Given the description of an element on the screen output the (x, y) to click on. 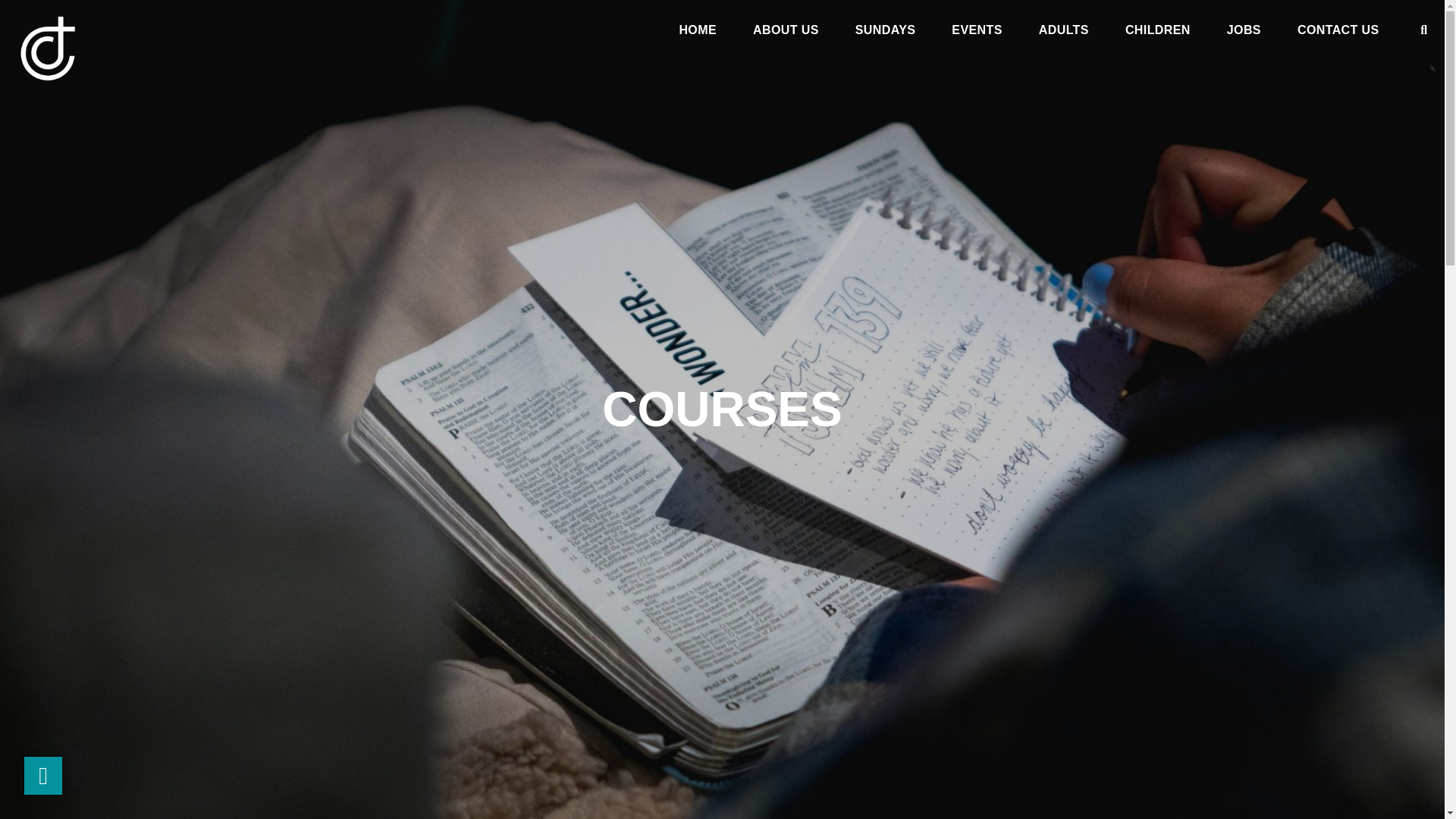
HOME (697, 33)
JOBS (1243, 33)
ADULTS (1064, 33)
CONTACT US (1337, 33)
SUNDAYS (885, 33)
CHILDREN (1158, 33)
ABOUT US (785, 33)
EVENTS (976, 33)
